Given the description of an element on the screen output the (x, y) to click on. 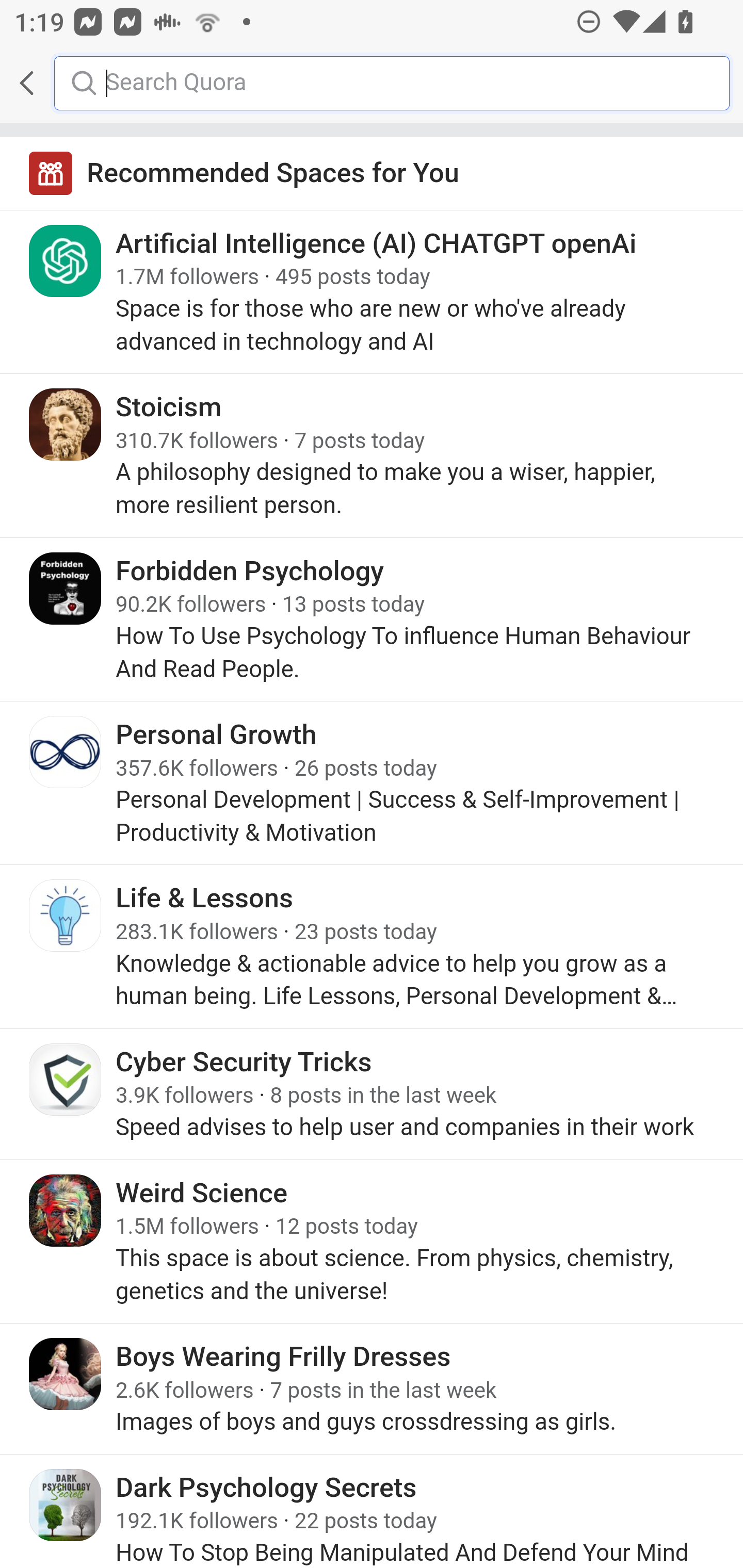
Me (64, 83)
Icon for Stoicism (65, 424)
Icon for Forbidden Psychology (65, 587)
Icon for Personal Growth (65, 751)
Icon for Life & Lessons (65, 916)
Icon for Cyber Security Tricks (65, 1078)
Icon for Weird Science (65, 1209)
Icon for Boys Wearing Frilly Dresses (65, 1374)
Icon for Dark Psychology Secrets (65, 1504)
